Given the description of an element on the screen output the (x, y) to click on. 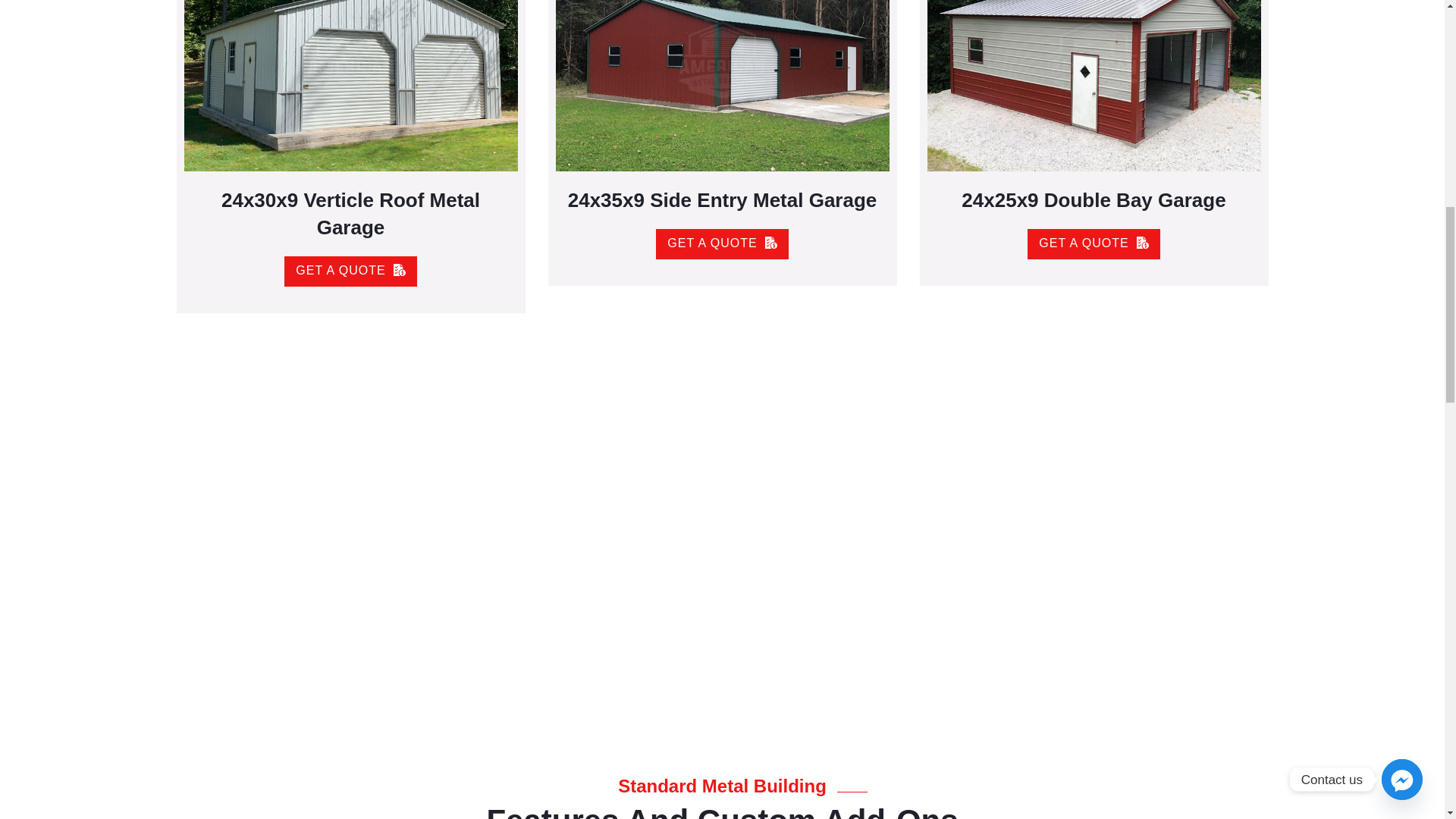
GET A QUOTE (1092, 260)
GET A QUOTE (721, 271)
GET A QUOTE (349, 316)
